Given the description of an element on the screen output the (x, y) to click on. 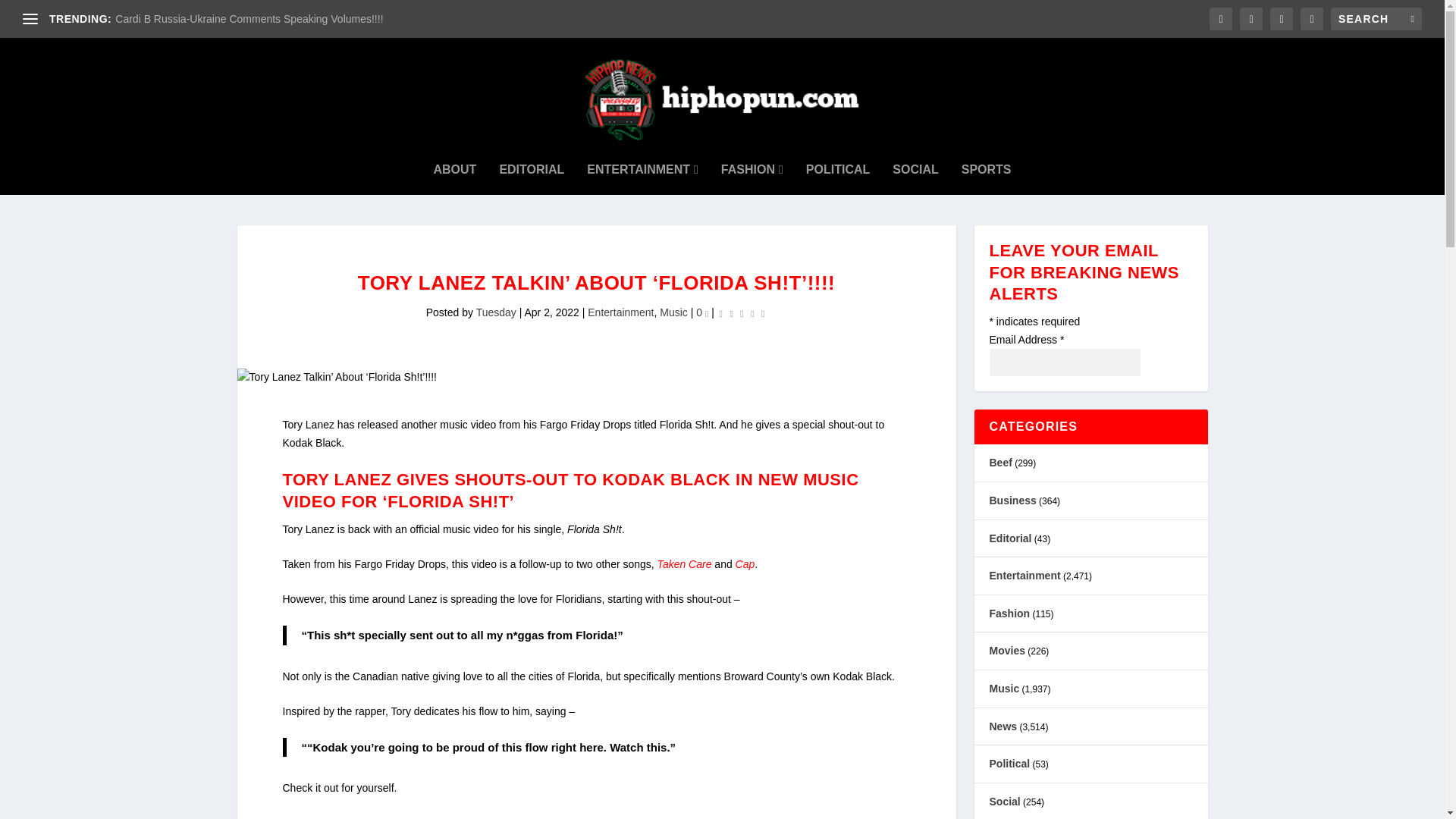
EDITORIAL (531, 169)
Search for: (1376, 18)
FASHION (751, 169)
ENTERTAINMENT (642, 169)
Cardi B Russia-Ukraine Comments Speaking Volumes!!!! (248, 19)
Posts by Tuesday (496, 312)
